Given the description of an element on the screen output the (x, y) to click on. 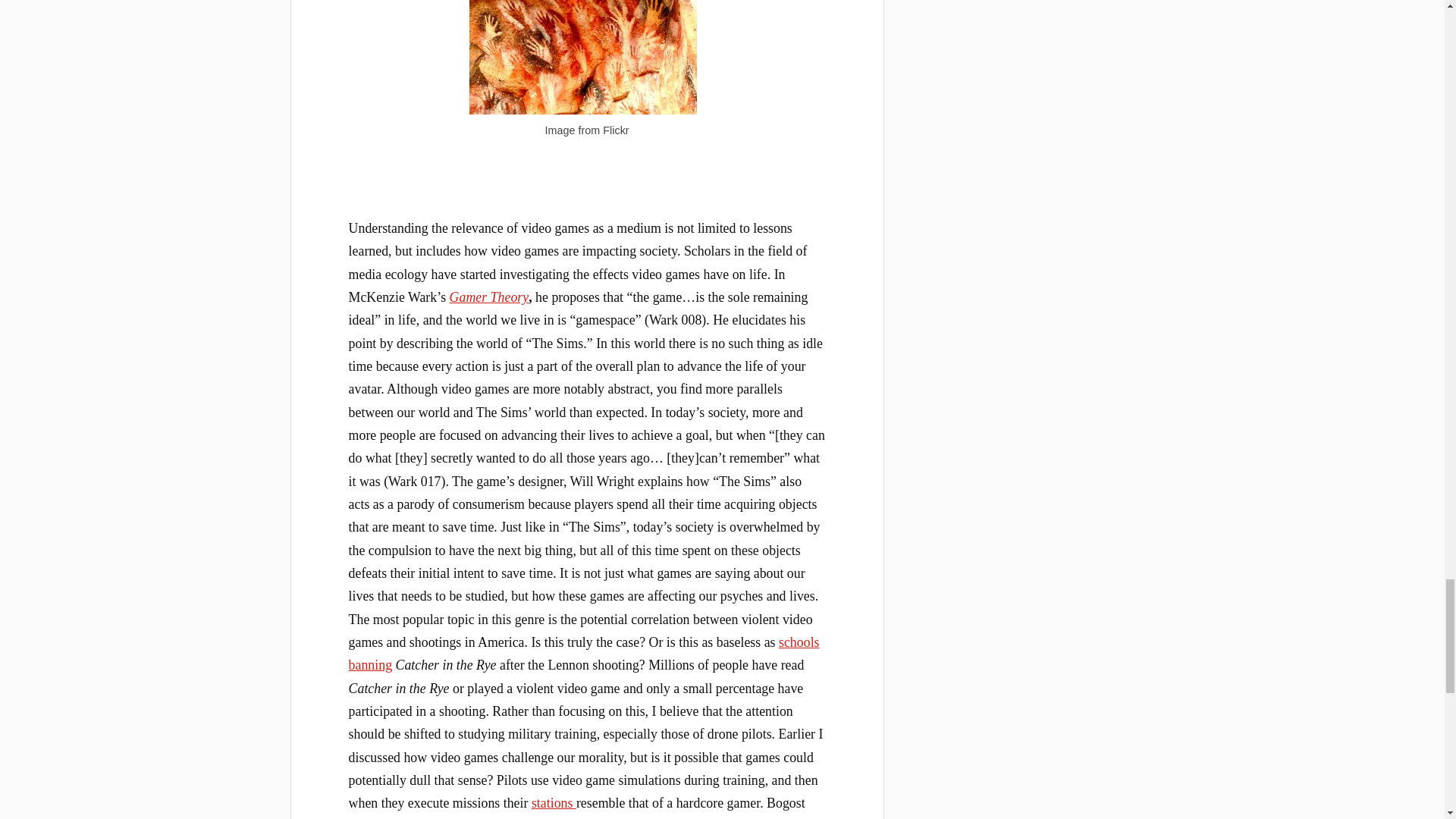
schools banning (584, 653)
stations (553, 802)
Gamer Theory (489, 296)
